Given the description of an element on the screen output the (x, y) to click on. 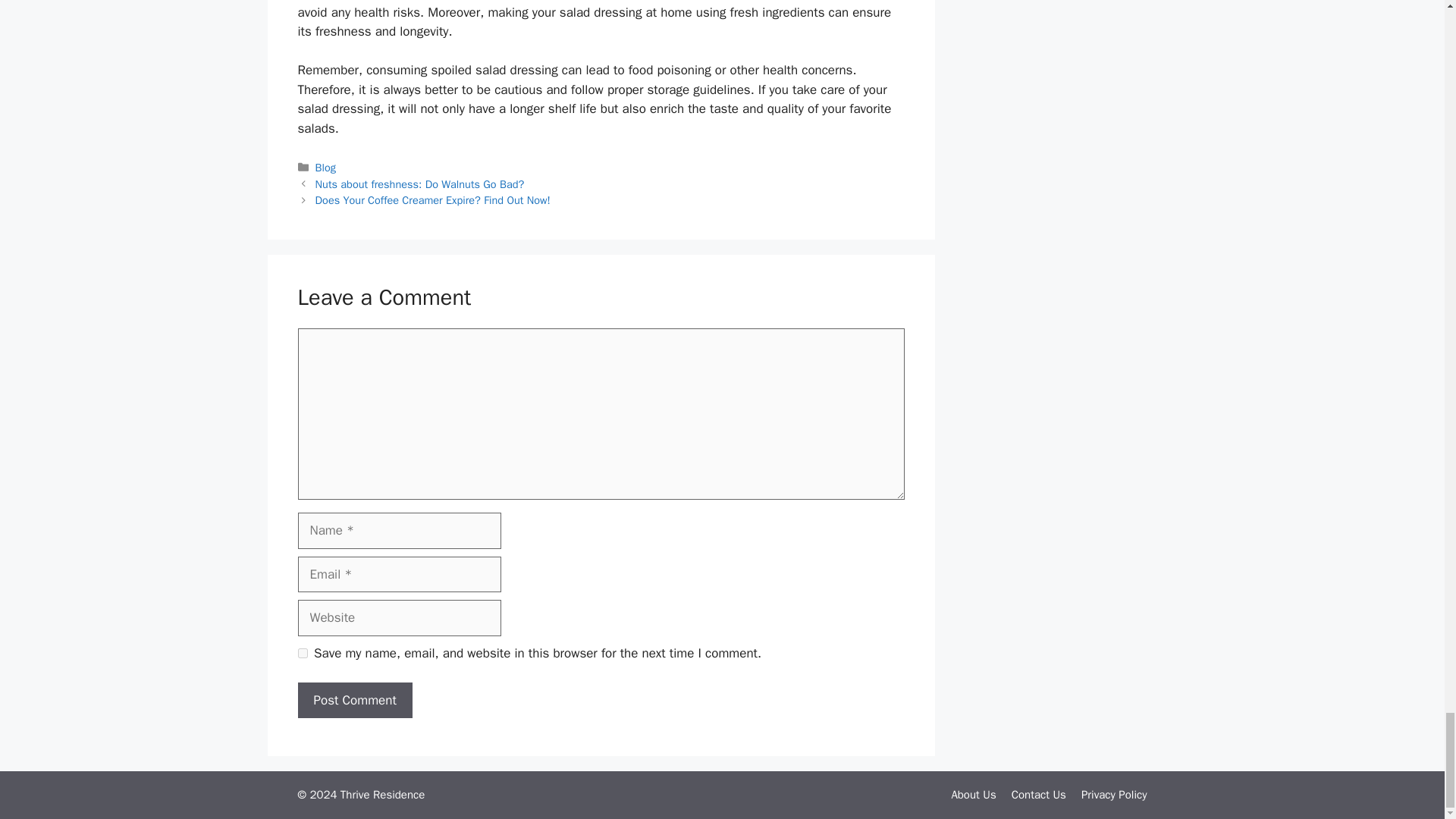
Does Your Coffee Creamer Expire? Find Out Now! (432, 200)
yes (302, 653)
Post Comment (354, 700)
Post Comment (354, 700)
Nuts about freshness: Do Walnuts Go Bad? (419, 183)
Blog (325, 167)
